Given the description of an element on the screen output the (x, y) to click on. 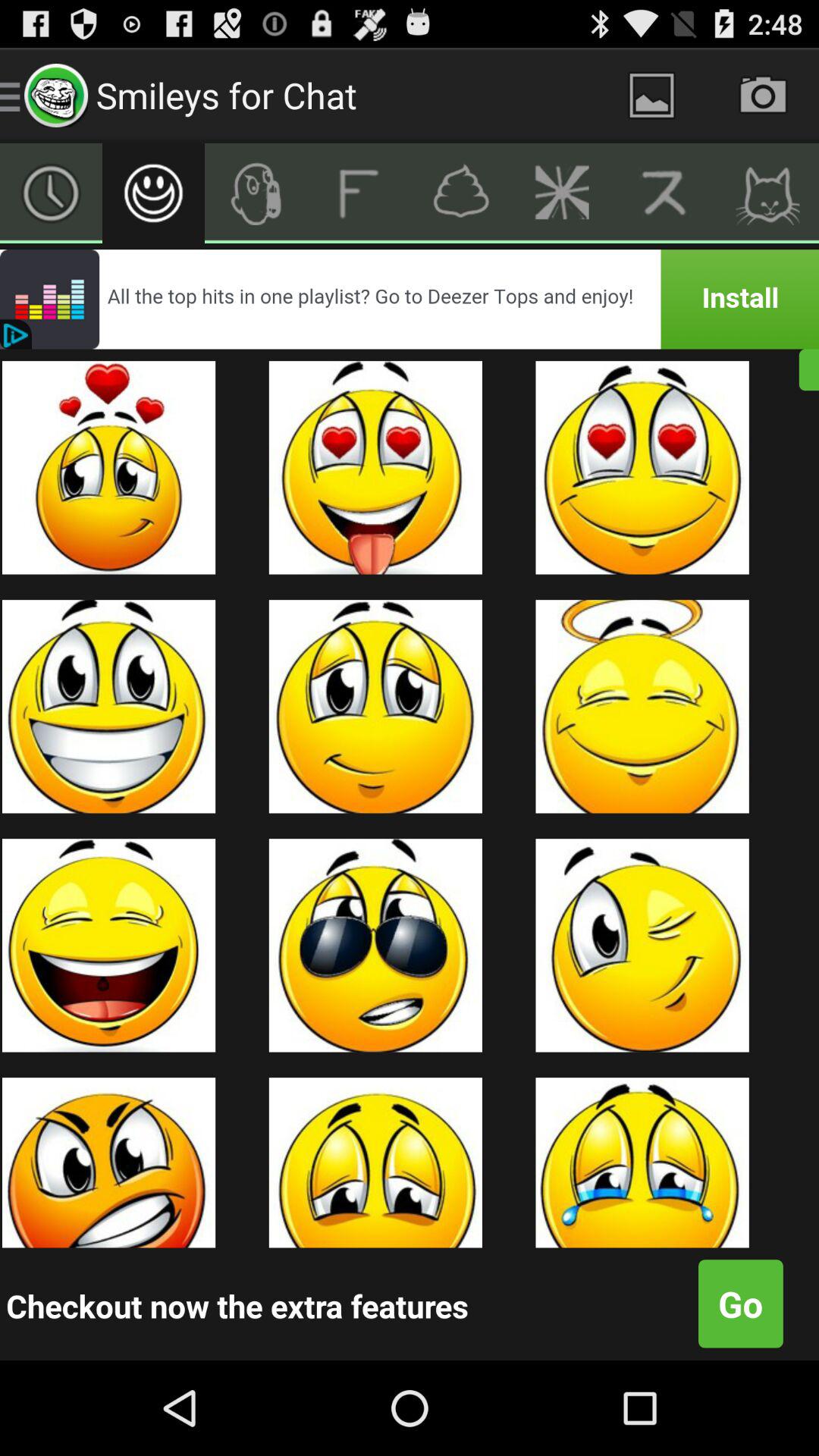
timer (51, 193)
